Given the description of an element on the screen output the (x, y) to click on. 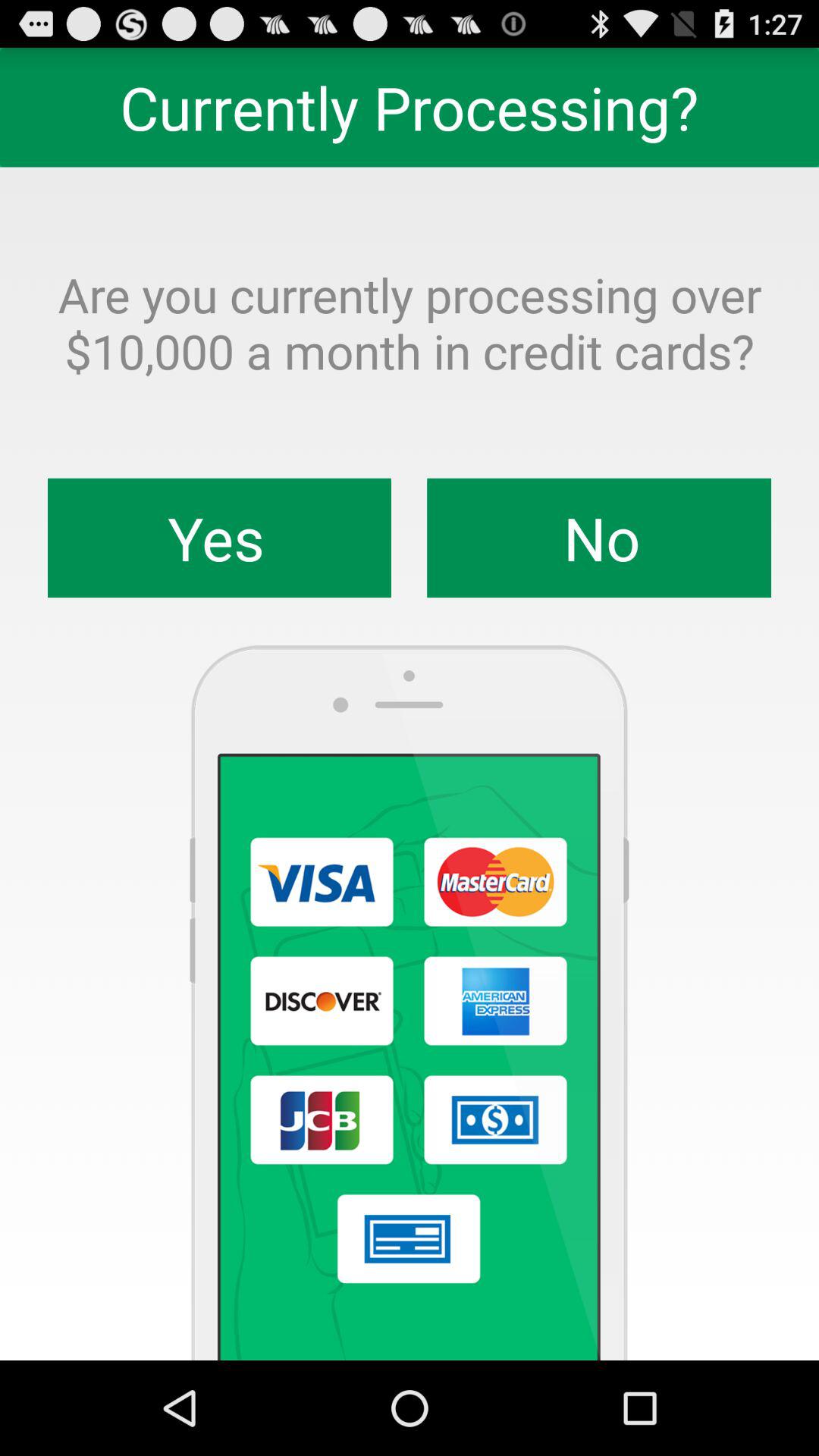
turn off yes (219, 537)
